Given the description of an element on the screen output the (x, y) to click on. 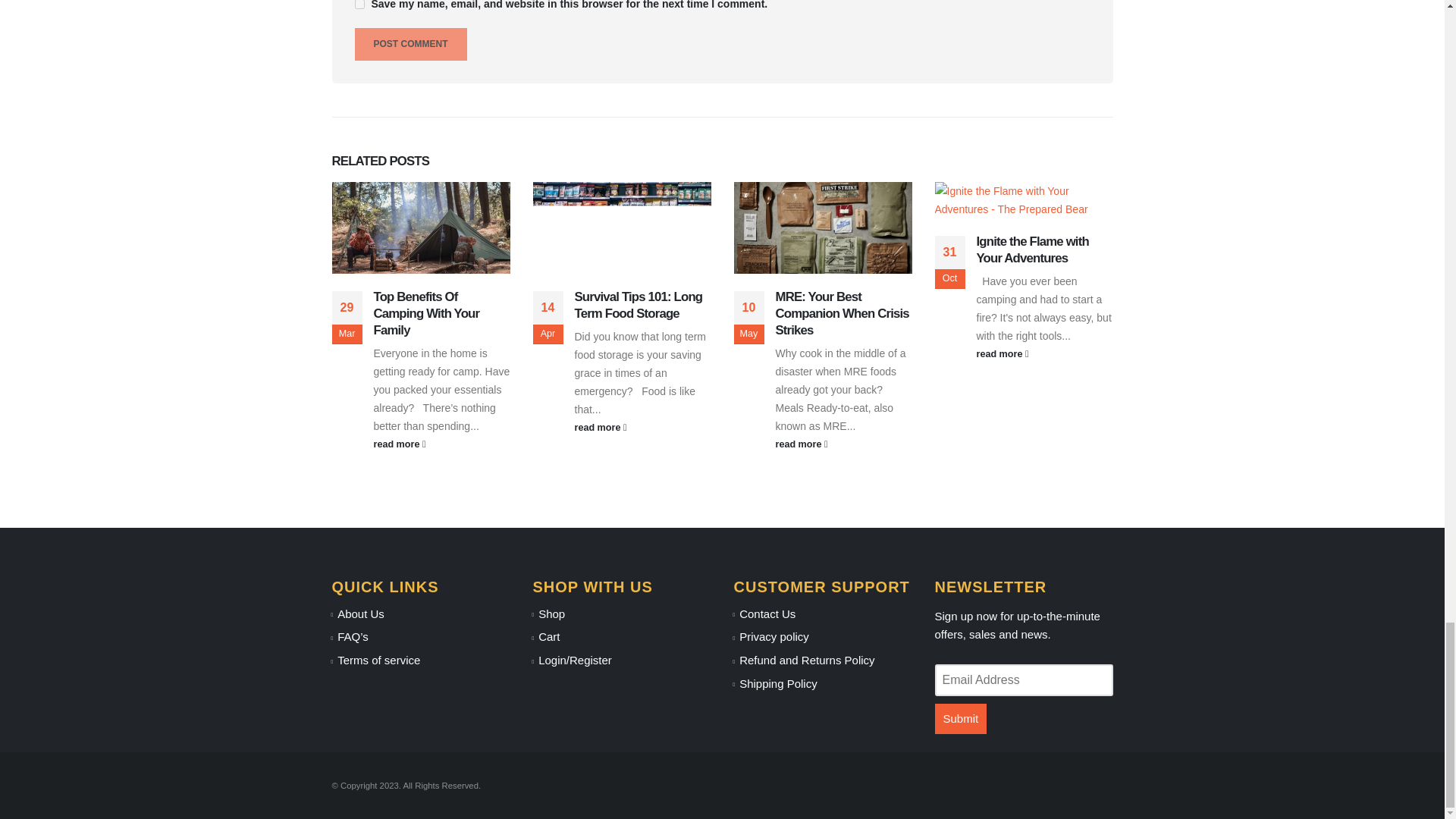
Post Comment (411, 43)
Submit (960, 718)
yes (360, 4)
